Given the description of an element on the screen output the (x, y) to click on. 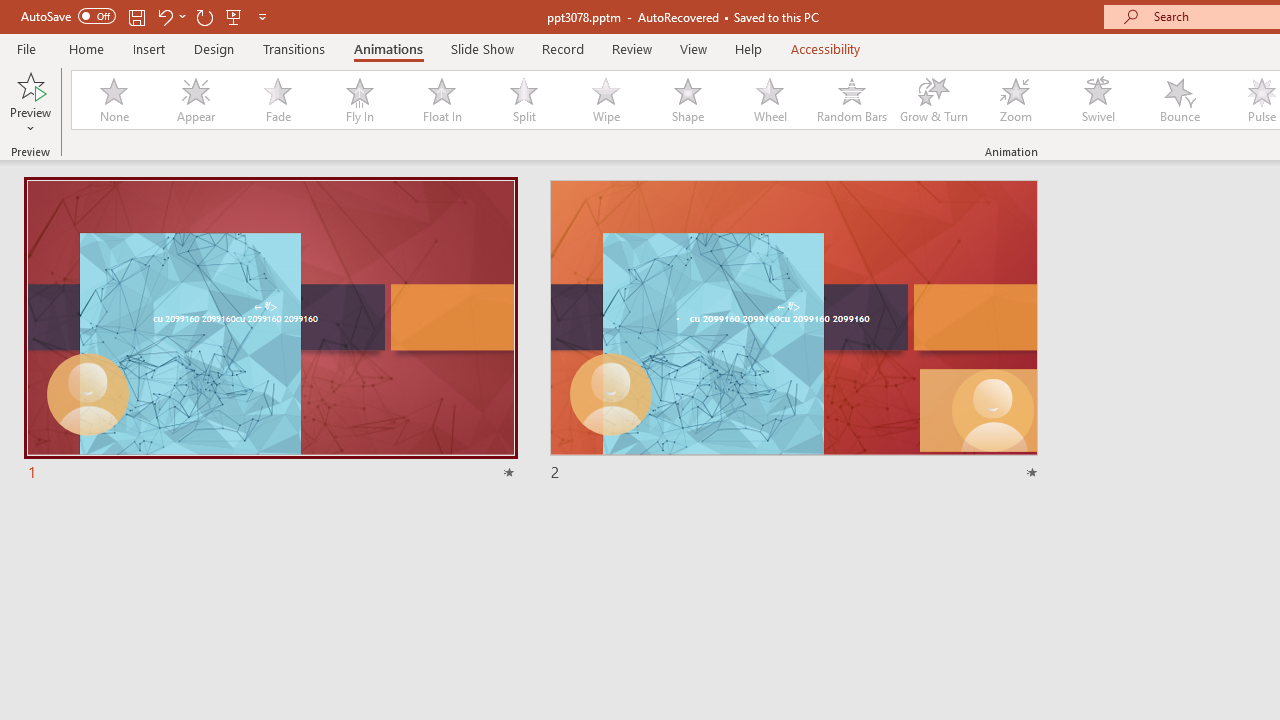
Preview (30, 84)
Slide (794, 331)
Fly In (359, 100)
Fade (277, 100)
